Given the description of an element on the screen output the (x, y) to click on. 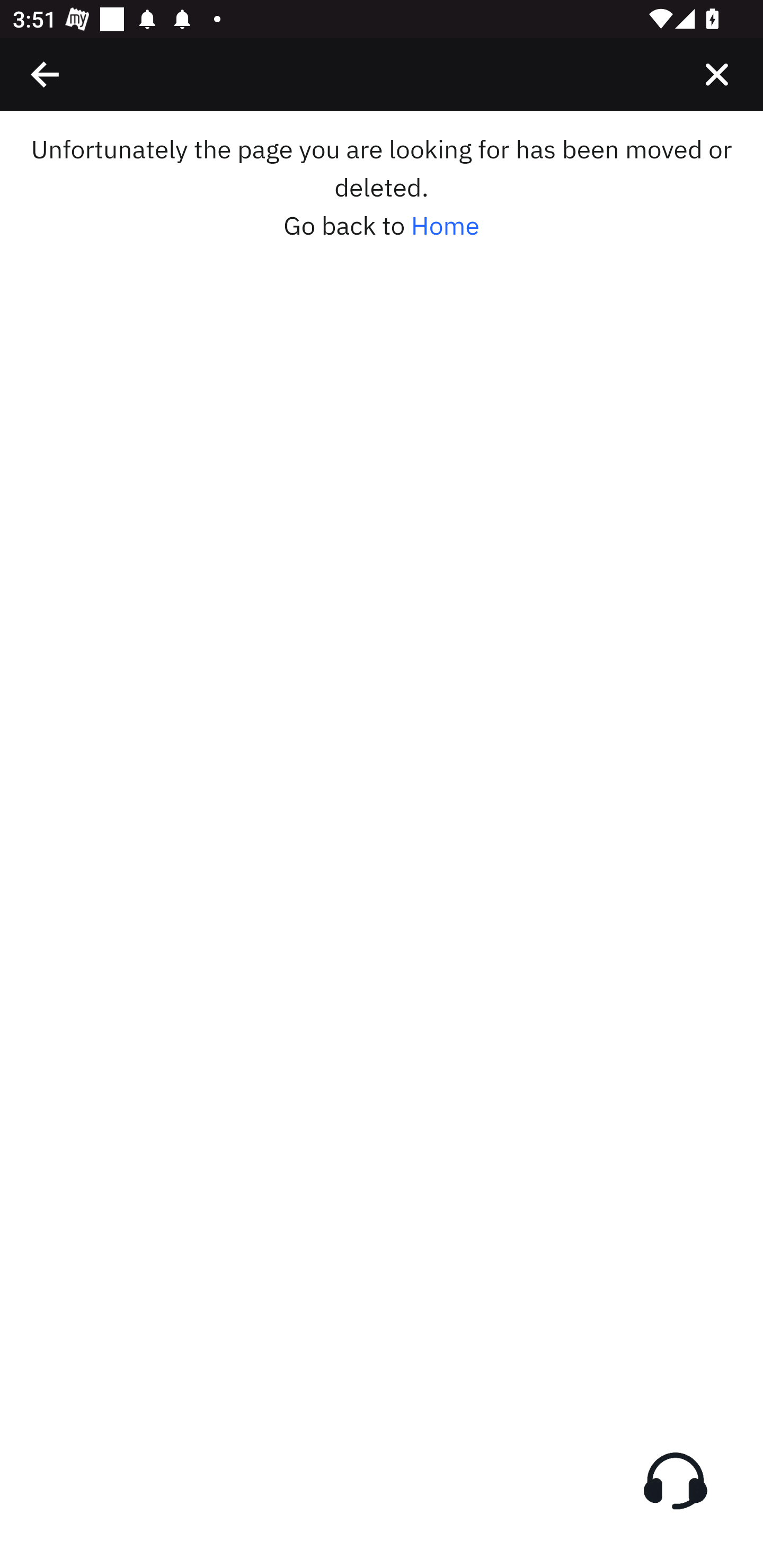
 (46, 74)
 (716, 74)
Home (444, 225)
Nova Your Virtual Assistant! button (674, 1480)
